Given the description of an element on the screen output the (x, y) to click on. 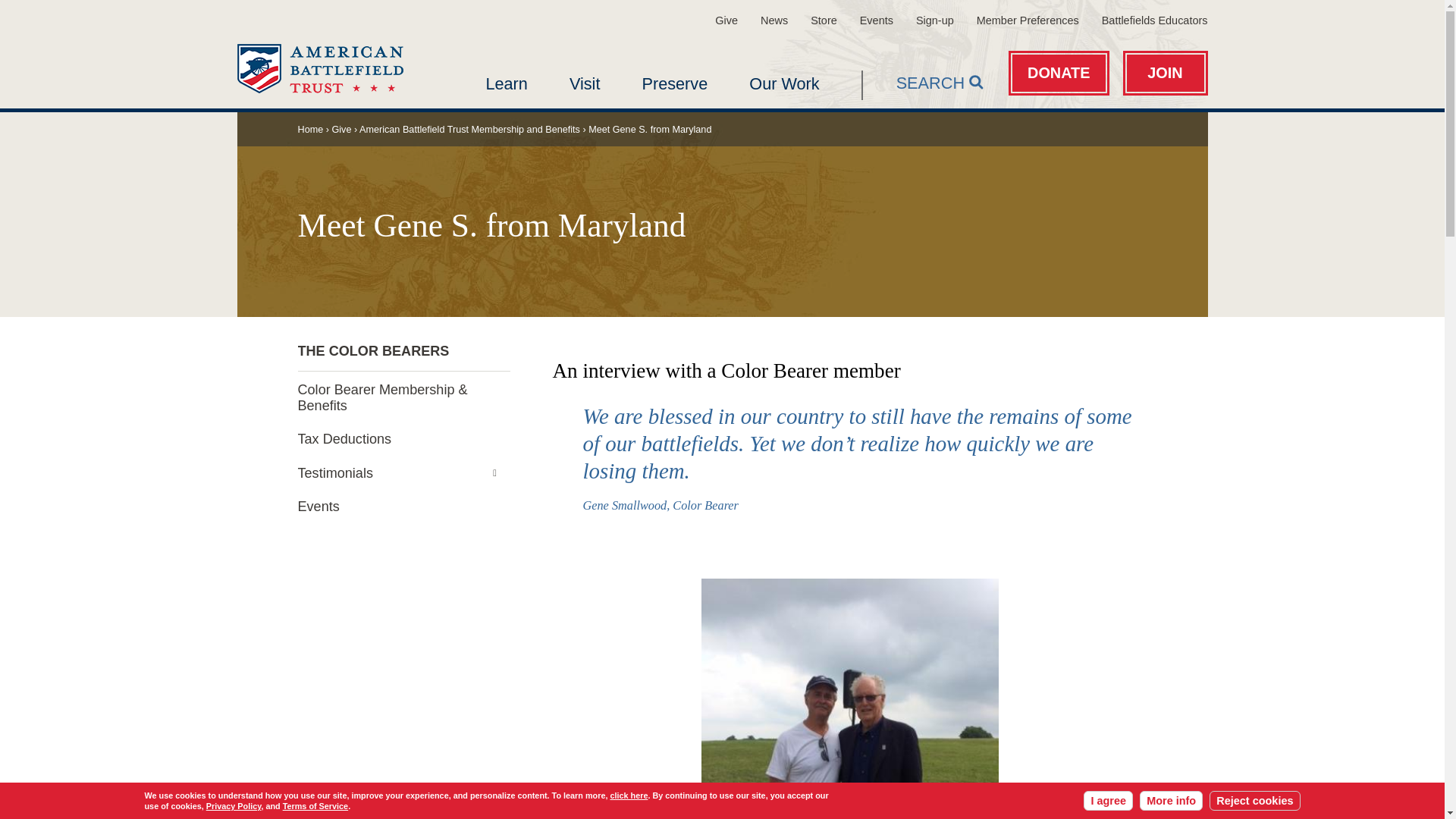
Events (876, 20)
More info (1171, 800)
Home (319, 68)
Store (823, 20)
Sign-up (934, 20)
Battlefields Educators (1155, 20)
Reject cookies (1254, 800)
News (773, 20)
I agree (1107, 800)
Privacy Policy (234, 805)
click here (628, 795)
Member Preferences (1027, 20)
Give (726, 20)
Learn (505, 83)
Terms of Service (314, 805)
